Given the description of an element on the screen output the (x, y) to click on. 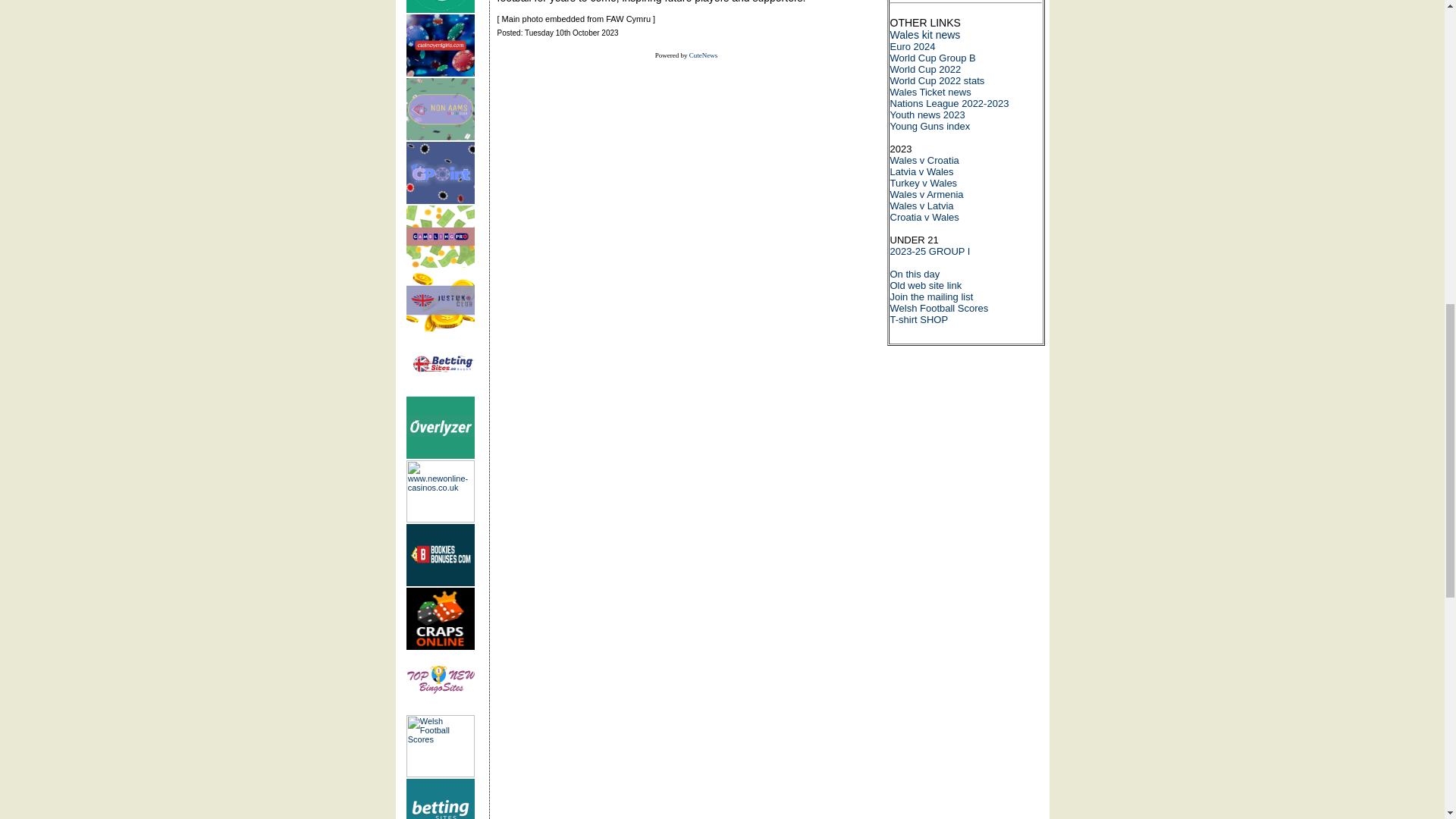
Welsh Football Scores (440, 745)
CuteNews - PHP News Management System (702, 54)
CuteNews (702, 54)
Best New Bingo sites (440, 682)
